Given the description of an element on the screen output the (x, y) to click on. 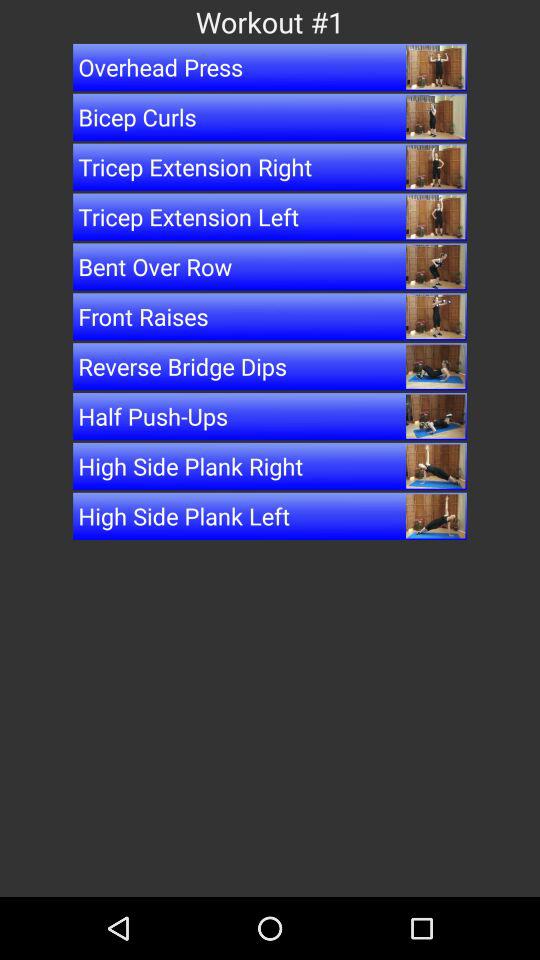
choose the reverse bridge dips icon (269, 366)
